Given the description of an element on the screen output the (x, y) to click on. 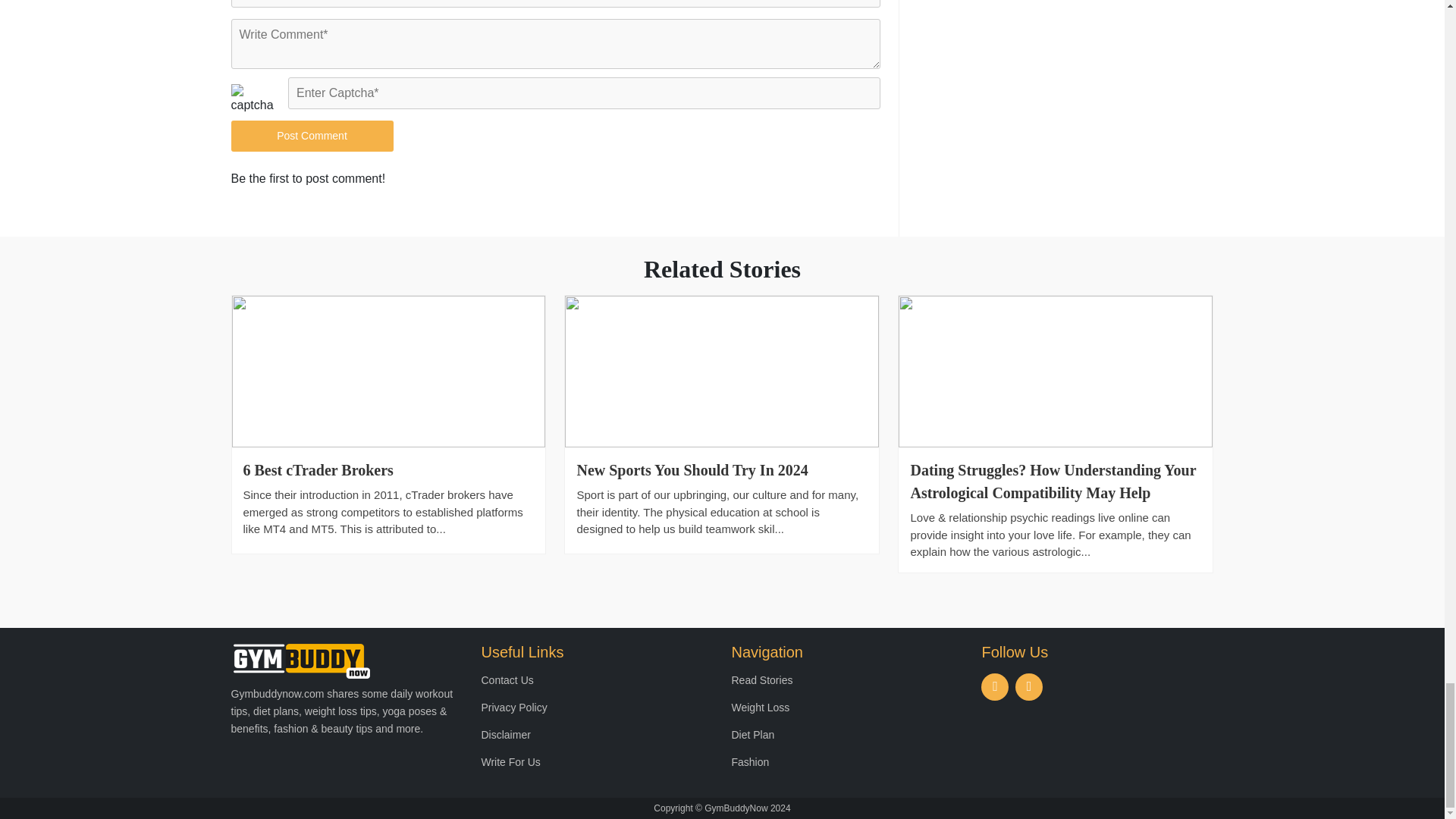
Contact Us (506, 680)
Read Stories (761, 680)
Fashion (749, 761)
Privacy Policy (513, 707)
Disclaimer (504, 734)
Weight Loss (759, 707)
Write For Us (510, 761)
Post Comment (311, 135)
Diet Plan (752, 734)
